Given the description of an element on the screen output the (x, y) to click on. 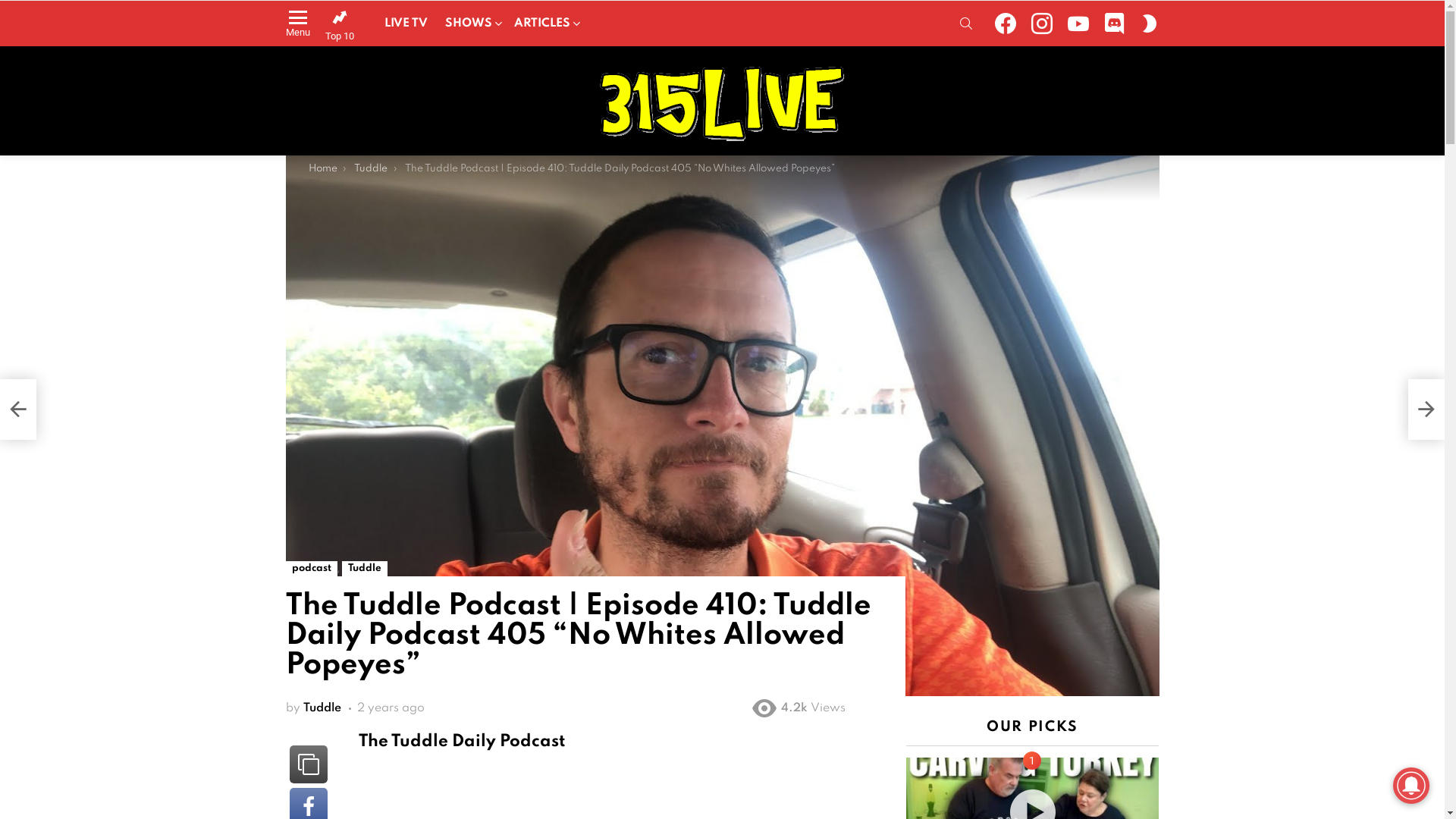
LIVE TV Element type: text (405, 23)
discord Element type: text (1114, 22)
ARTICLES Element type: text (544, 23)
facebook Element type: text (1005, 22)
Tuddle Element type: text (322, 708)
Share on Copy Link Element type: hover (308, 764)
podcast Element type: text (310, 568)
SHOWS Element type: text (469, 23)
instagram Element type: text (1041, 22)
Top 10 Element type: text (338, 25)
SEARCH Element type: text (966, 22)
youtube Element type: text (1078, 22)
Menu Element type: text (297, 22)
Tuddle Element type: text (370, 168)
Tuddle Element type: text (363, 568)
Home Element type: text (321, 168)
SWITCH SKIN Element type: text (1149, 22)
